Given the description of an element on the screen output the (x, y) to click on. 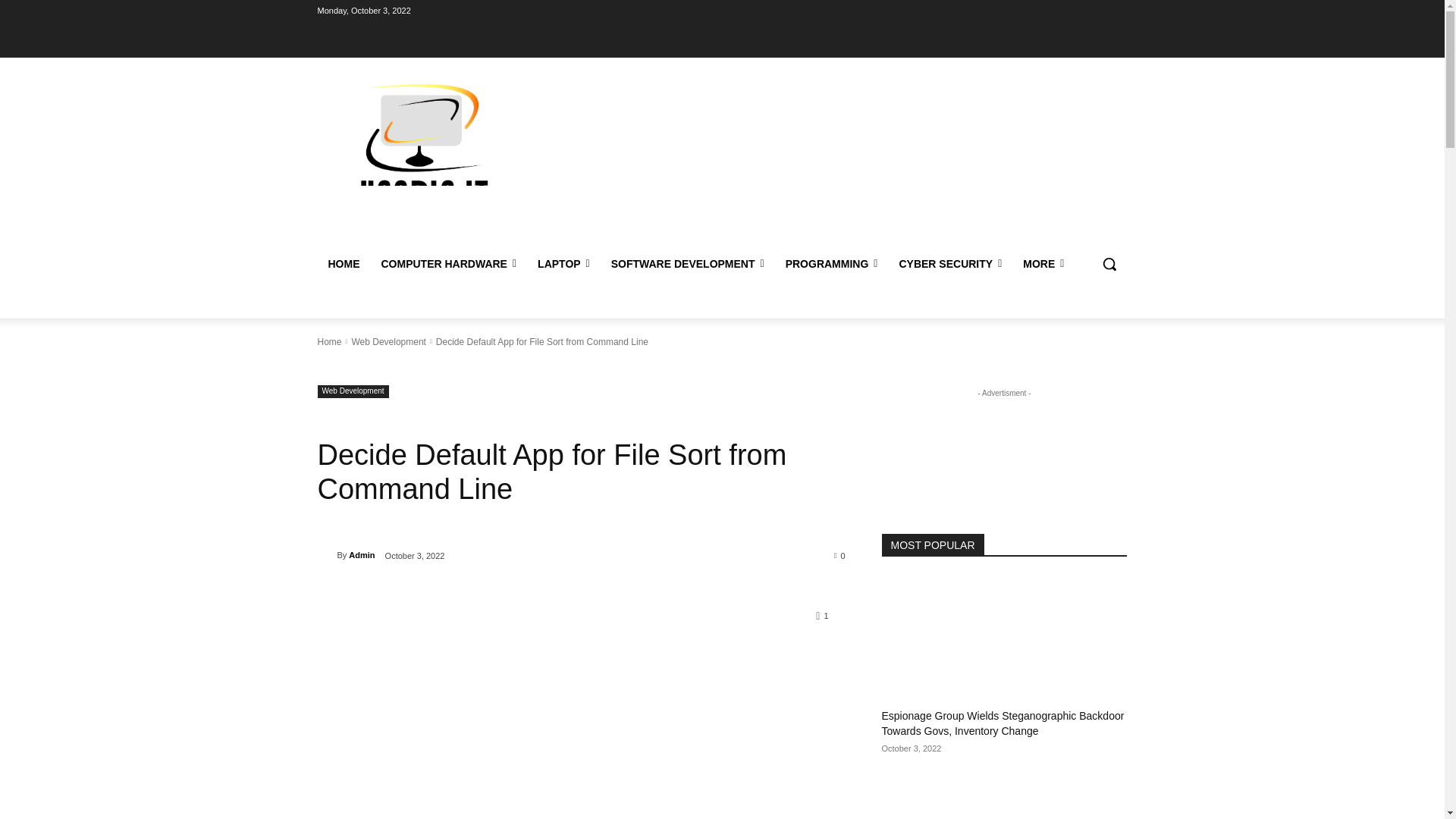
HOME (343, 263)
Admin (326, 554)
LAPTOP (563, 263)
COMPUTER HARDWARE (448, 263)
View all posts in Web Development (388, 341)
